Given the description of an element on the screen output the (x, y) to click on. 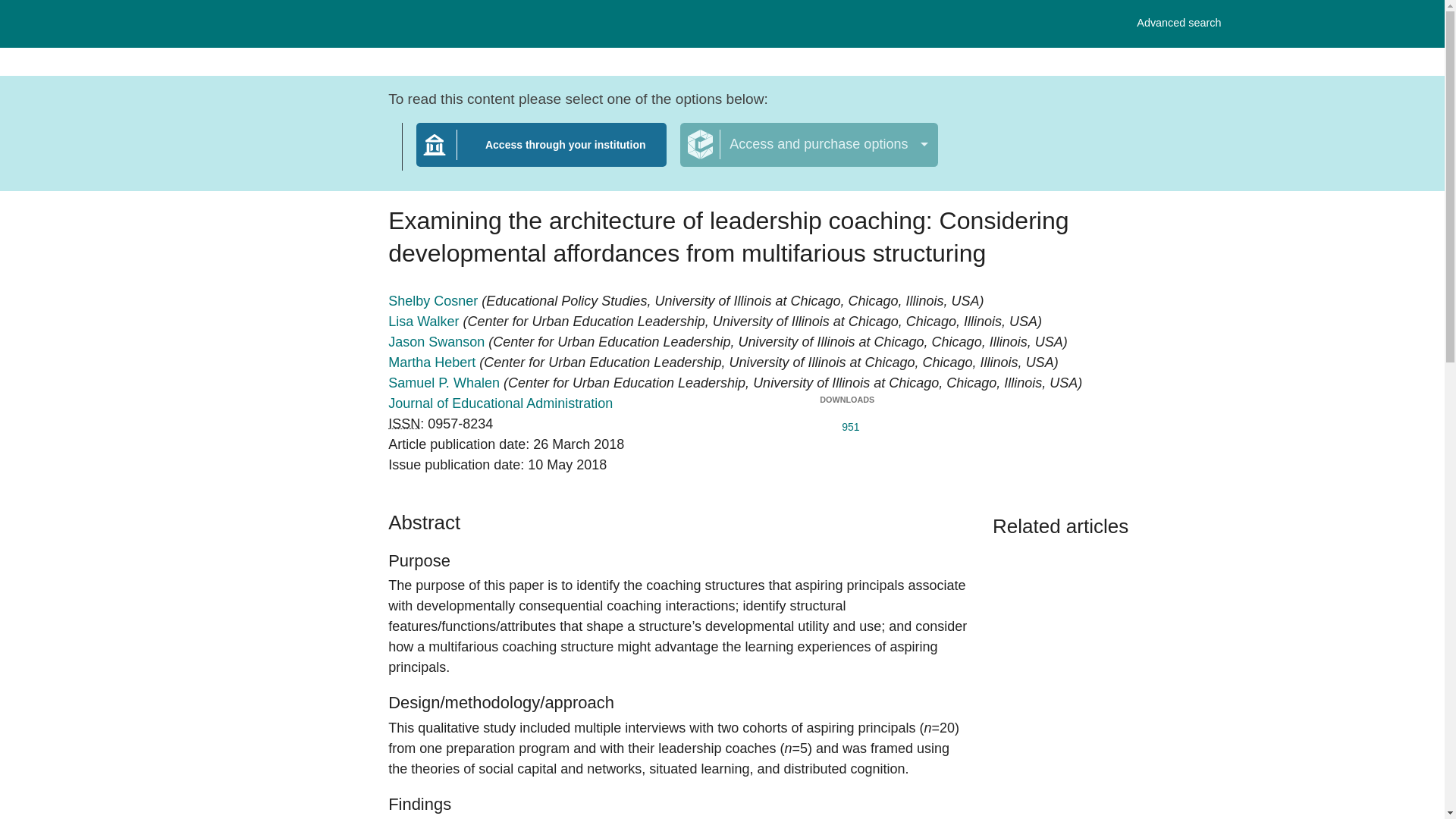
Jason Swanson (437, 341)
Lisa Walker (425, 321)
This item has been downloaded 951 times since 2018. (846, 423)
Samuel P. Whalen (445, 382)
Martha Hebert (433, 362)
Access through your institution (1178, 23)
Shelby Cosner (541, 153)
International Standard Serial Number. (434, 300)
Access and purchase options (404, 423)
Journal of Educational Administration (808, 144)
